Given the description of an element on the screen output the (x, y) to click on. 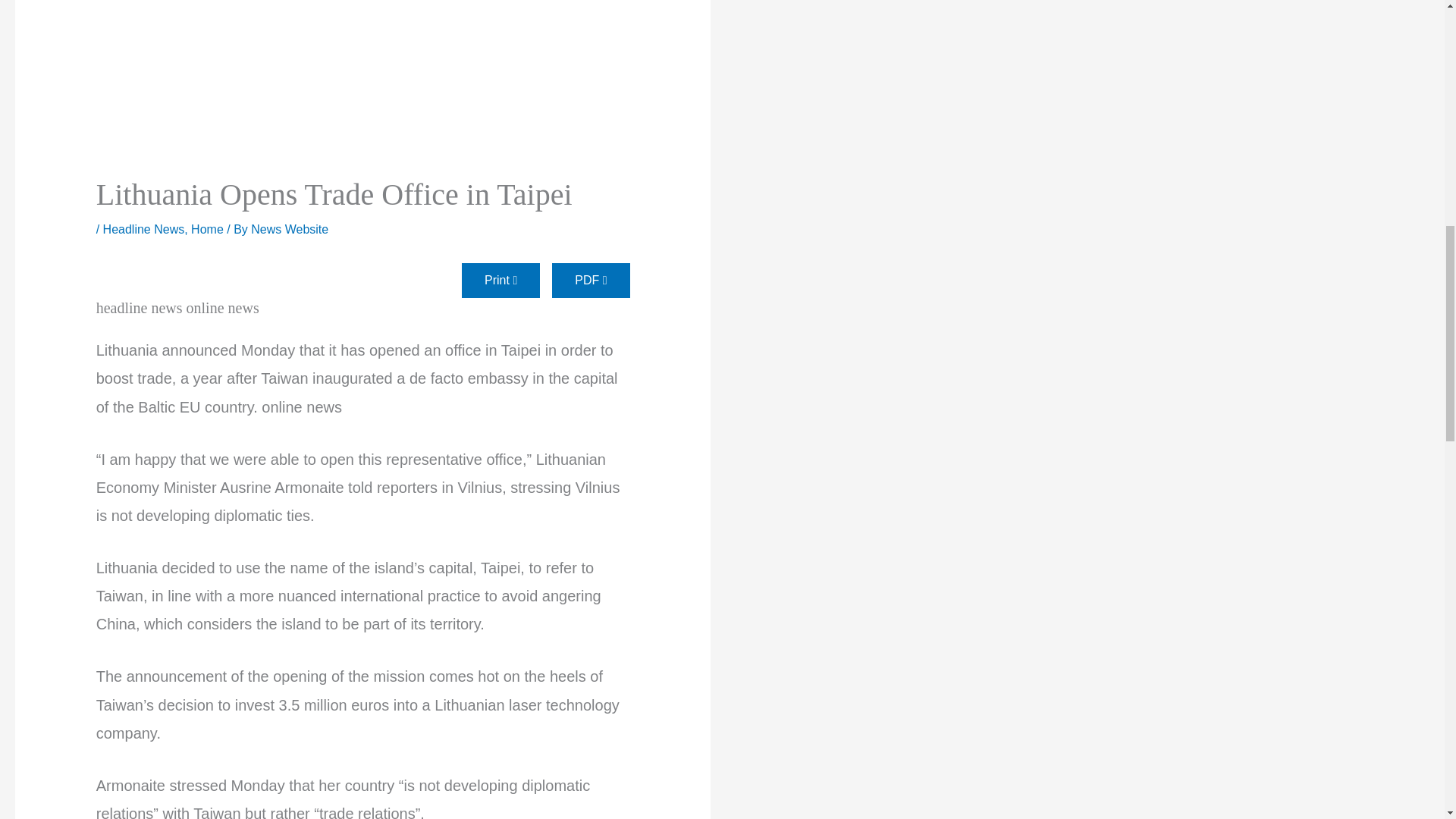
News Website (289, 228)
Headline News (143, 228)
Home (207, 228)
View all posts by News Website (289, 228)
